Given the description of an element on the screen output the (x, y) to click on. 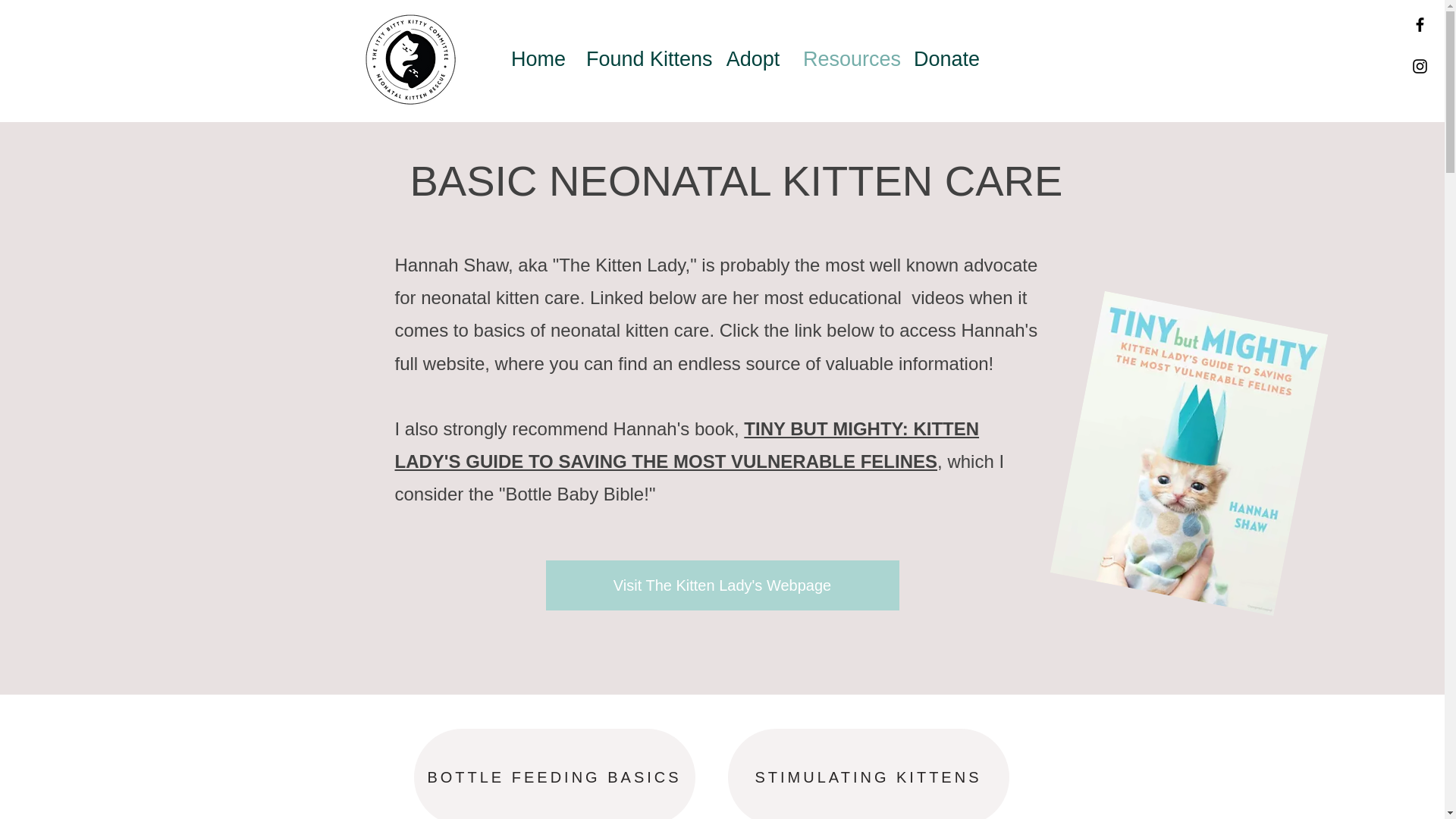
Adopt (753, 58)
Donate (945, 58)
STIMULATING KITTENS (868, 773)
BOTTLE FEEDING BASICS (554, 773)
Visit The Kitten Lady's Webpage (722, 584)
Resources (847, 58)
Home (537, 58)
Found Kittens (644, 58)
